Given the description of an element on the screen output the (x, y) to click on. 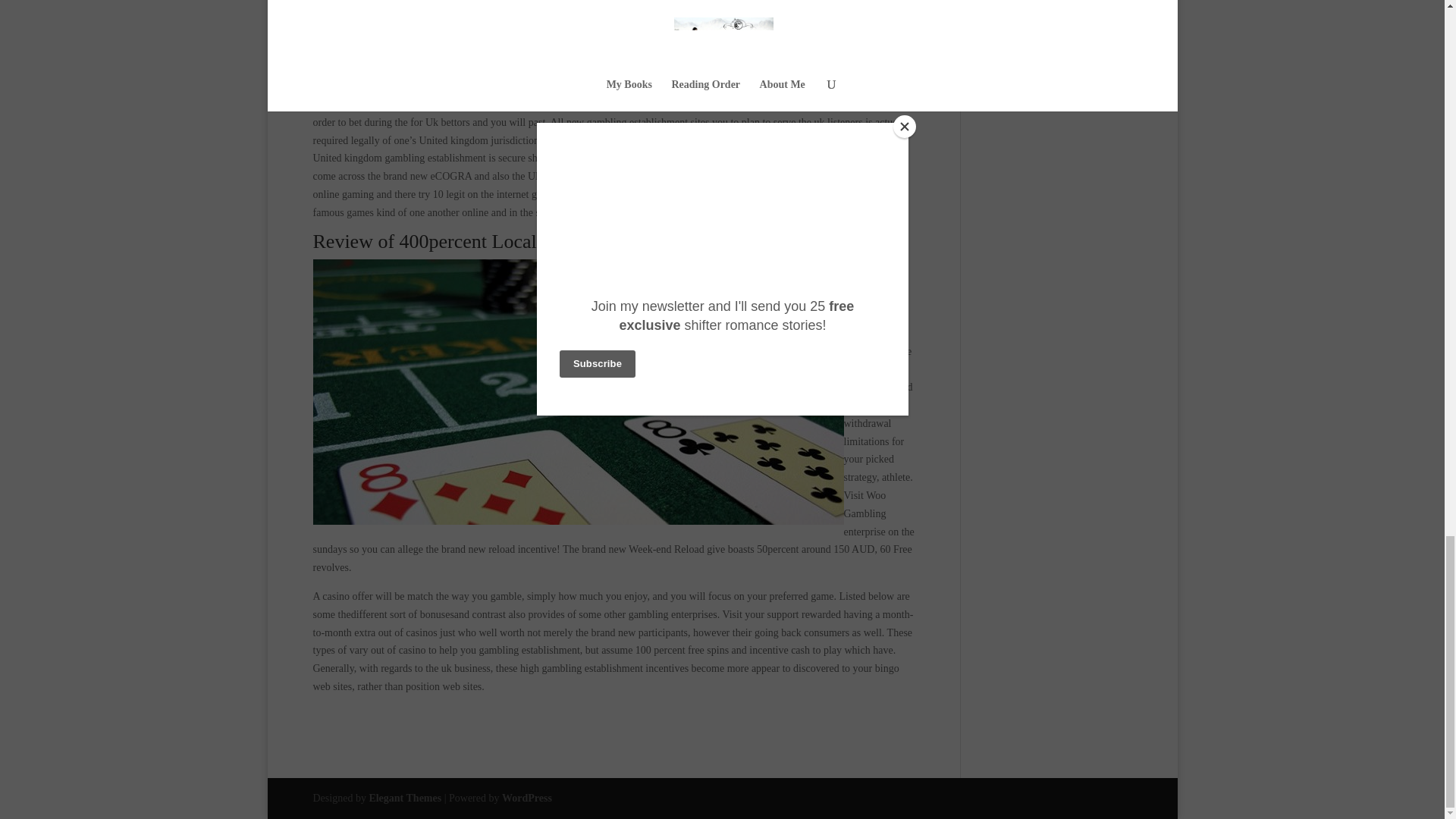
Elegant Themes (404, 797)
Premium WordPress Themes (404, 797)
WordPress (526, 797)
